Given the description of an element on the screen output the (x, y) to click on. 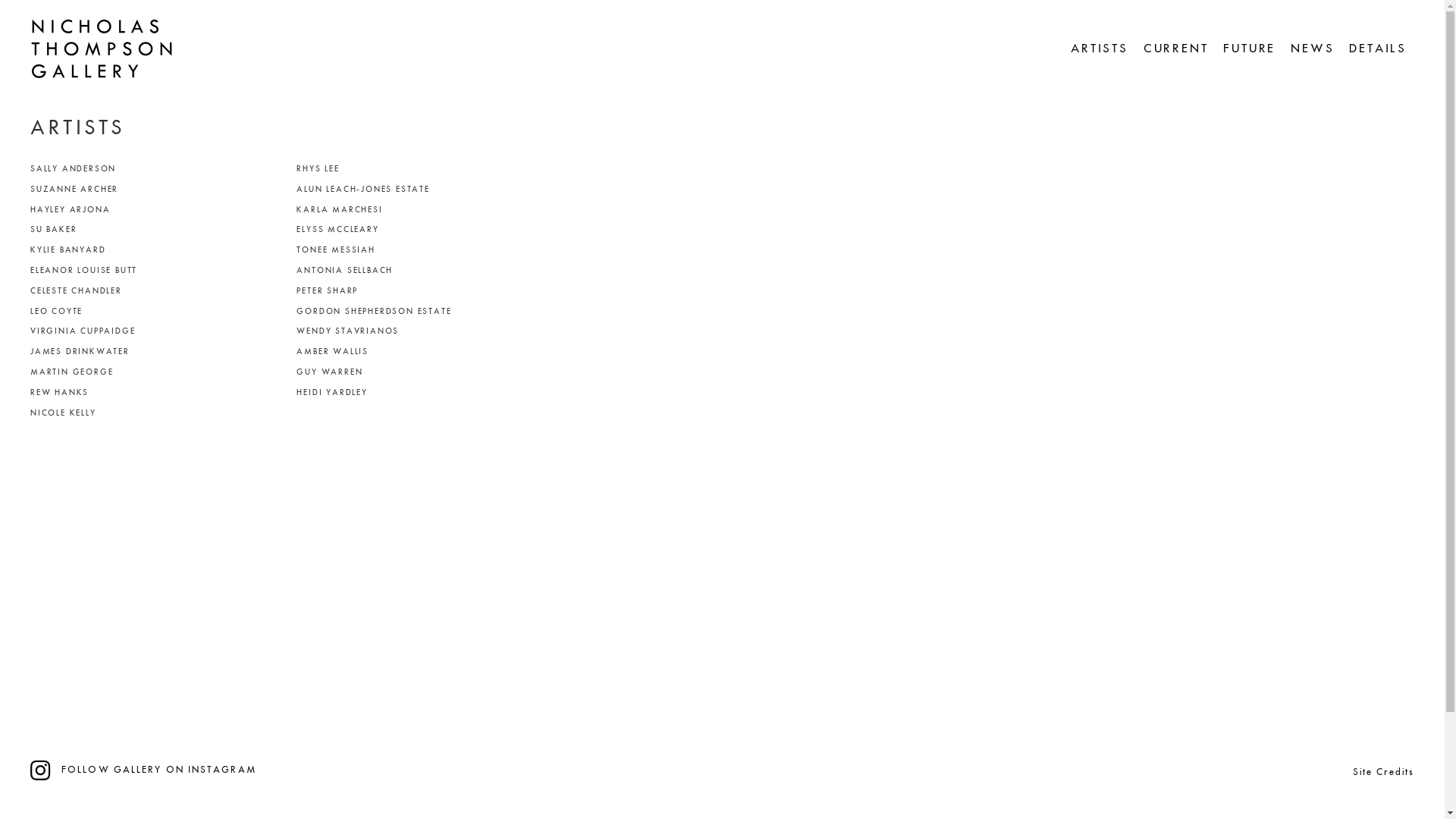
NEWS Element type: text (1312, 48)
FUTURE Element type: text (1249, 48)
MARTIN GEORGE Element type: text (157, 372)
Site Credits Element type: text (1383, 771)
SALLY ANDERSON Element type: text (157, 169)
ELYSS MCCLEARY Element type: text (424, 229)
DETAILS Element type: text (1377, 48)
WENDY STAVRIANOS Element type: text (424, 331)
CURRENT Element type: text (1175, 48)
RHYS LEE Element type: text (424, 169)
LEO COYTE Element type: text (157, 311)
SUZANNE ARCHER Element type: text (157, 189)
REW HANKS Element type: text (157, 392)
KARLA MARCHESI Element type: text (424, 209)
ELEANOR LOUISE BUTT Element type: text (157, 270)
NICOLE KELLY Element type: text (157, 413)
AMBER WALLIS Element type: text (424, 351)
ANTONIA SELLBACH Element type: text (424, 270)
JAMES DRINKWATER Element type: text (157, 351)
SU BAKER Element type: text (157, 229)
ALUN LEACH-JONES ESTATE Element type: text (424, 189)
KYLIE BANYARD Element type: text (157, 250)
GUY WARREN Element type: text (424, 372)
TONEE MESSIAH Element type: text (424, 250)
logo-ntg-stacked Element type: hover (103, 48)
ARTISTS Element type: text (1099, 48)
FOLLOW GALLERY ON INSTAGRAM Element type: text (158, 770)
GORDON SHEPHERDSON ESTATE Element type: text (424, 311)
HEIDI YARDLEY Element type: text (424, 392)
CELESTE CHANDLER Element type: text (157, 291)
HAYLEY ARJONA Element type: text (157, 209)
PETER SHARP Element type: text (424, 291)
VIRGINIA CUPPAIDGE Element type: text (157, 331)
